Given the description of an element on the screen output the (x, y) to click on. 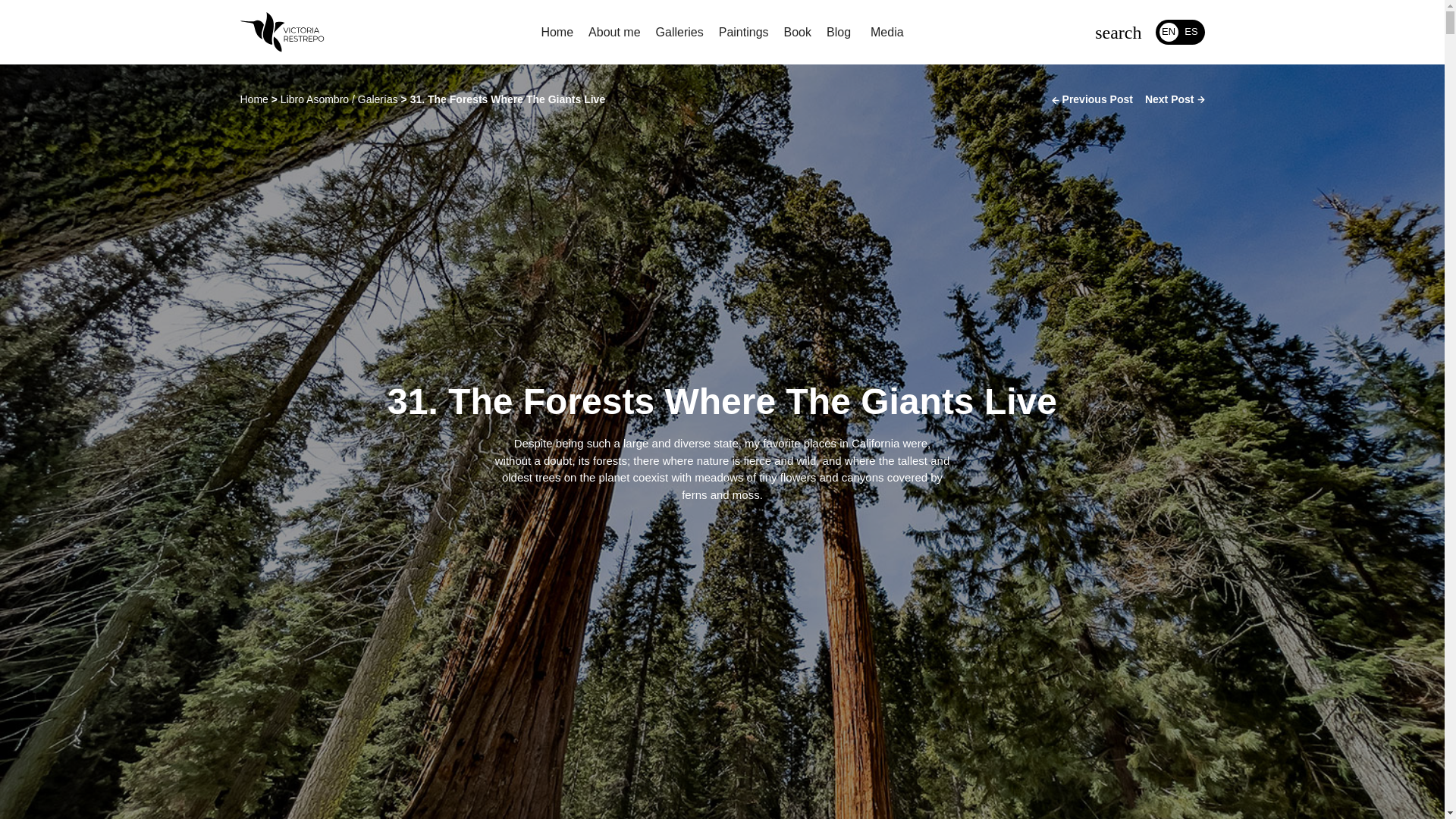
Paintings (743, 32)
Previous Post (1091, 99)
About me (614, 32)
Next Post (1174, 99)
Galleries (679, 32)
Go to Victoria Restrepo. (253, 99)
ES (1189, 31)
Home (253, 99)
EN (1167, 31)
